Given the description of an element on the screen output the (x, y) to click on. 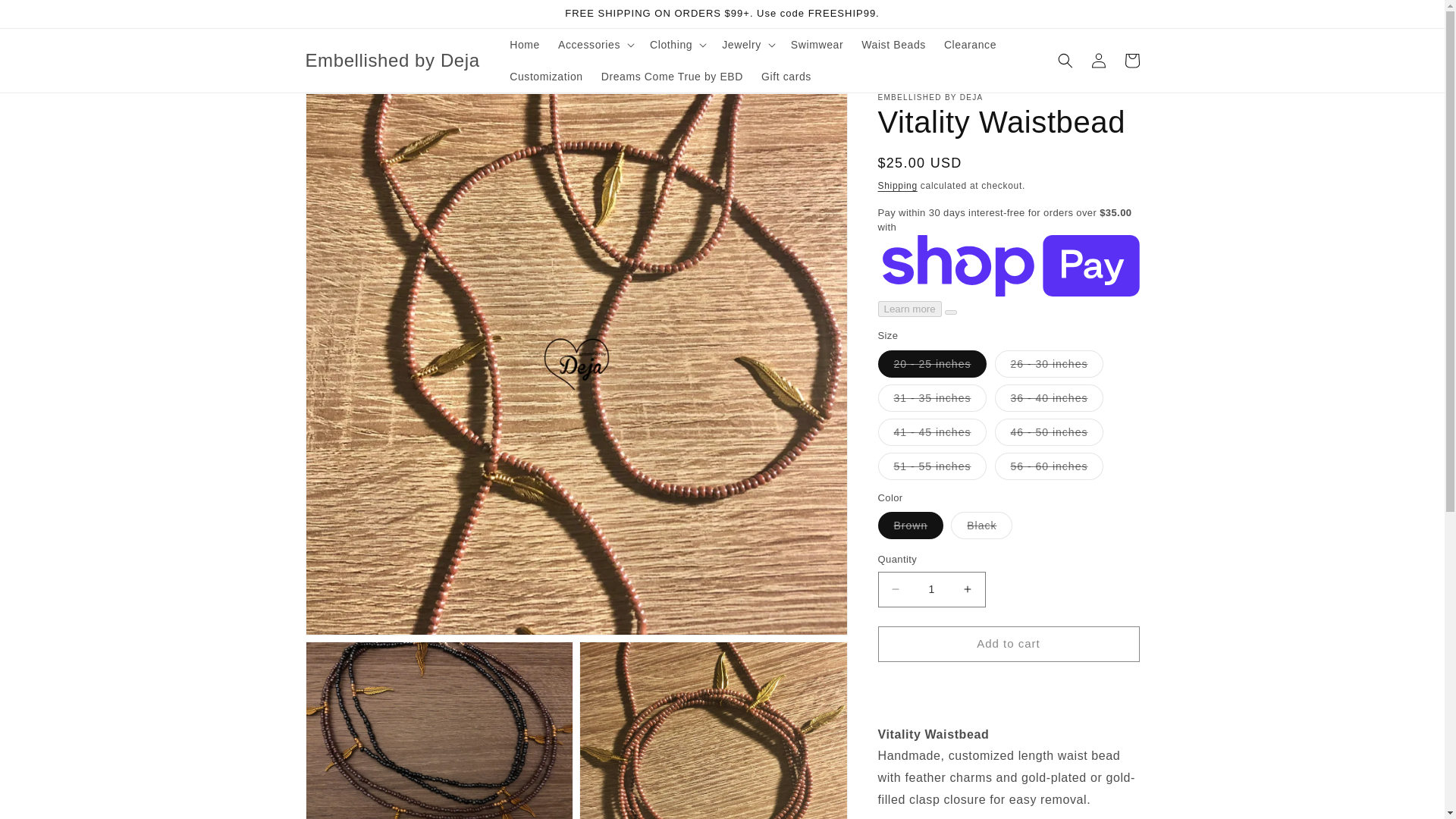
Embellished by Deja (391, 60)
1 (931, 589)
